Given the description of an element on the screen output the (x, y) to click on. 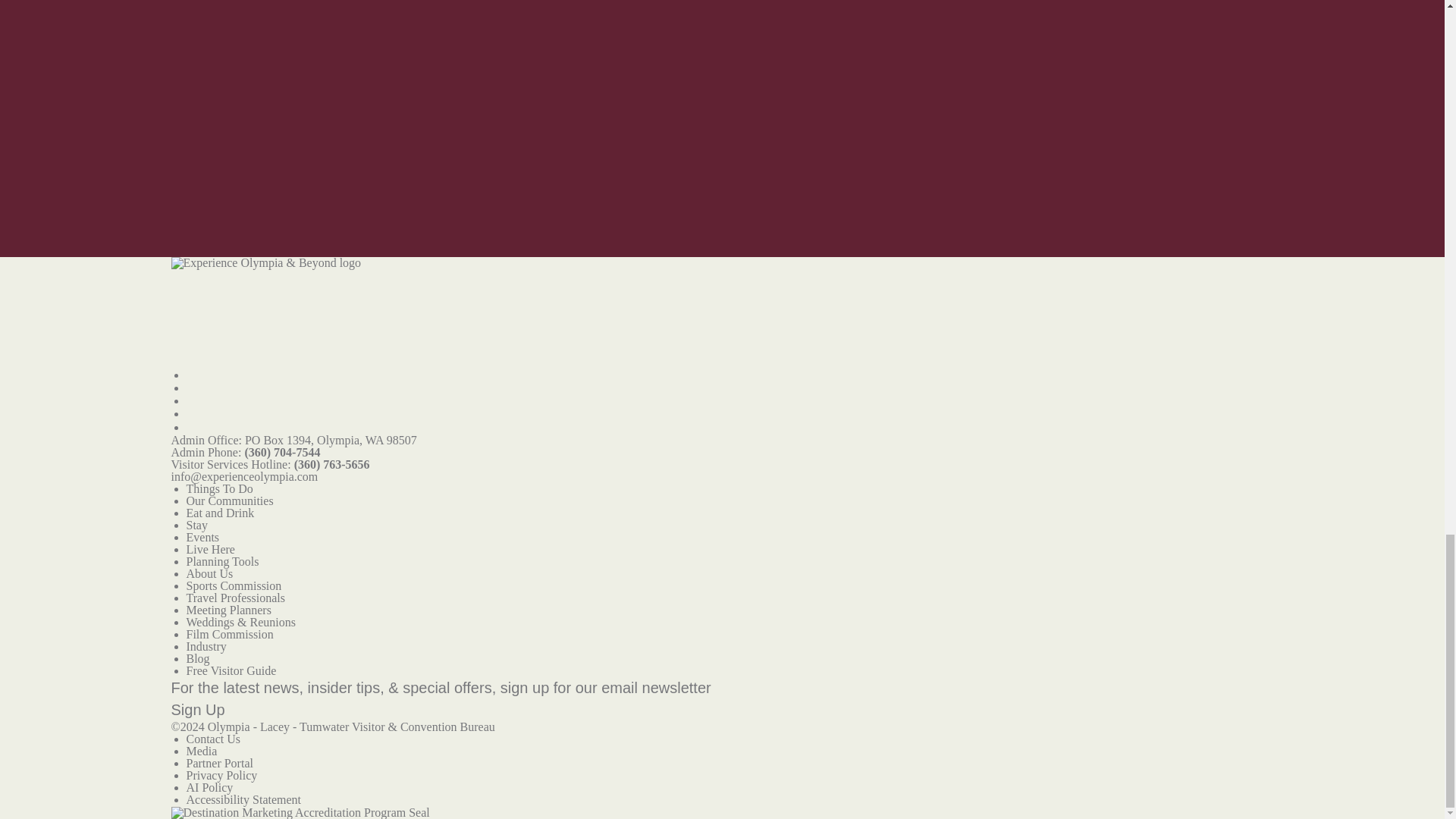
Things To Do (219, 488)
